Given the description of an element on the screen output the (x, y) to click on. 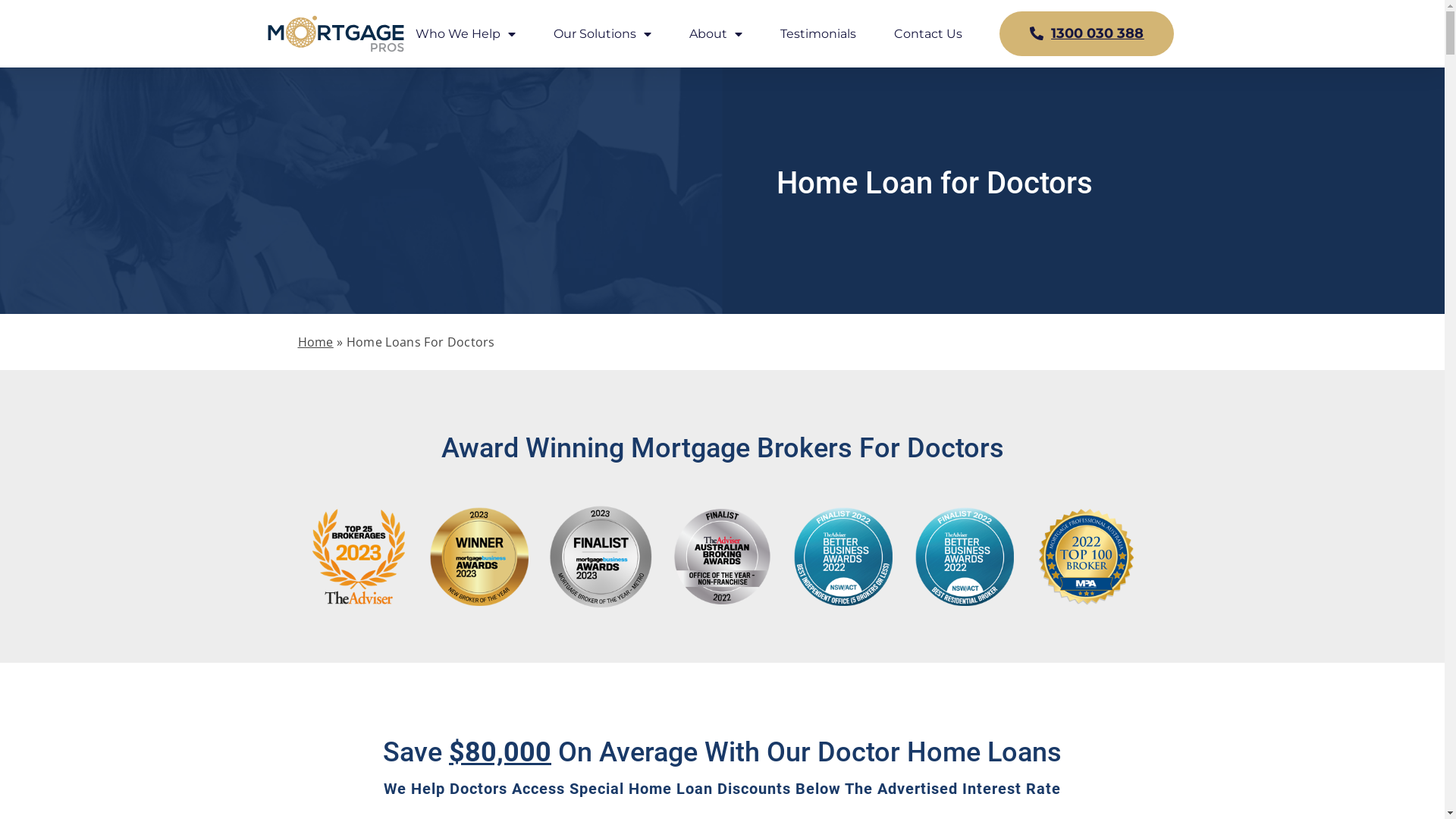
Contact Us Element type: text (928, 33)
Home Element type: text (314, 341)
1300 030 388 Element type: text (1086, 33)
About Element type: text (715, 33)
Our Solutions Element type: text (602, 33)
Testimonials Element type: text (818, 33)
Who We Help Element type: text (465, 33)
